Given the description of an element on the screen output the (x, y) to click on. 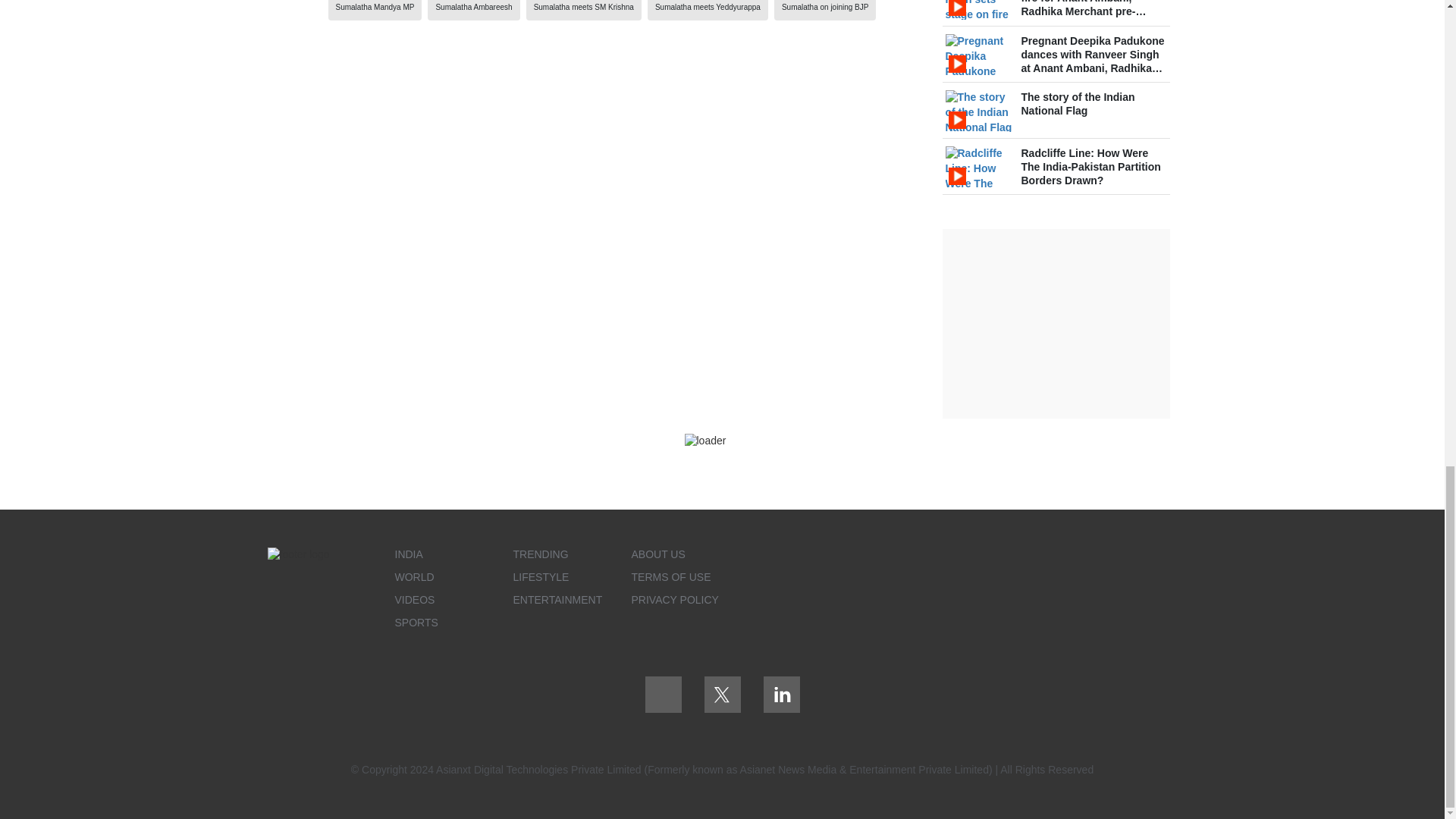
Sumalatha Ambareesh (473, 7)
Sumalatha meets SM Krishna (583, 7)
Sumalatha on joining BJP (825, 7)
Sumalatha Mandya MP (373, 7)
Sumalatha meets Yeddyurappa (707, 7)
